Given the description of an element on the screen output the (x, y) to click on. 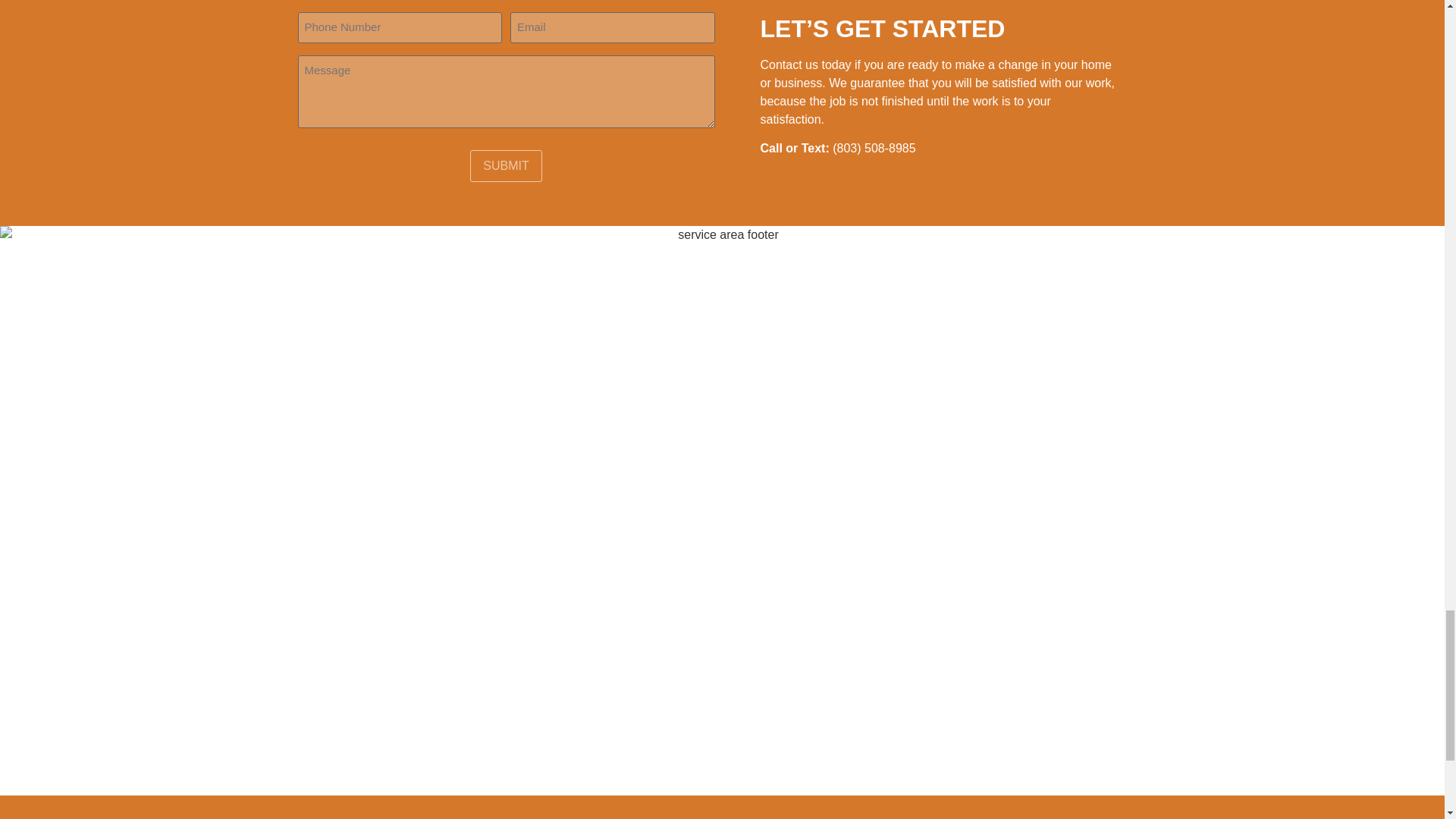
Submit (505, 165)
Submit (505, 165)
